Given the description of an element on the screen output the (x, y) to click on. 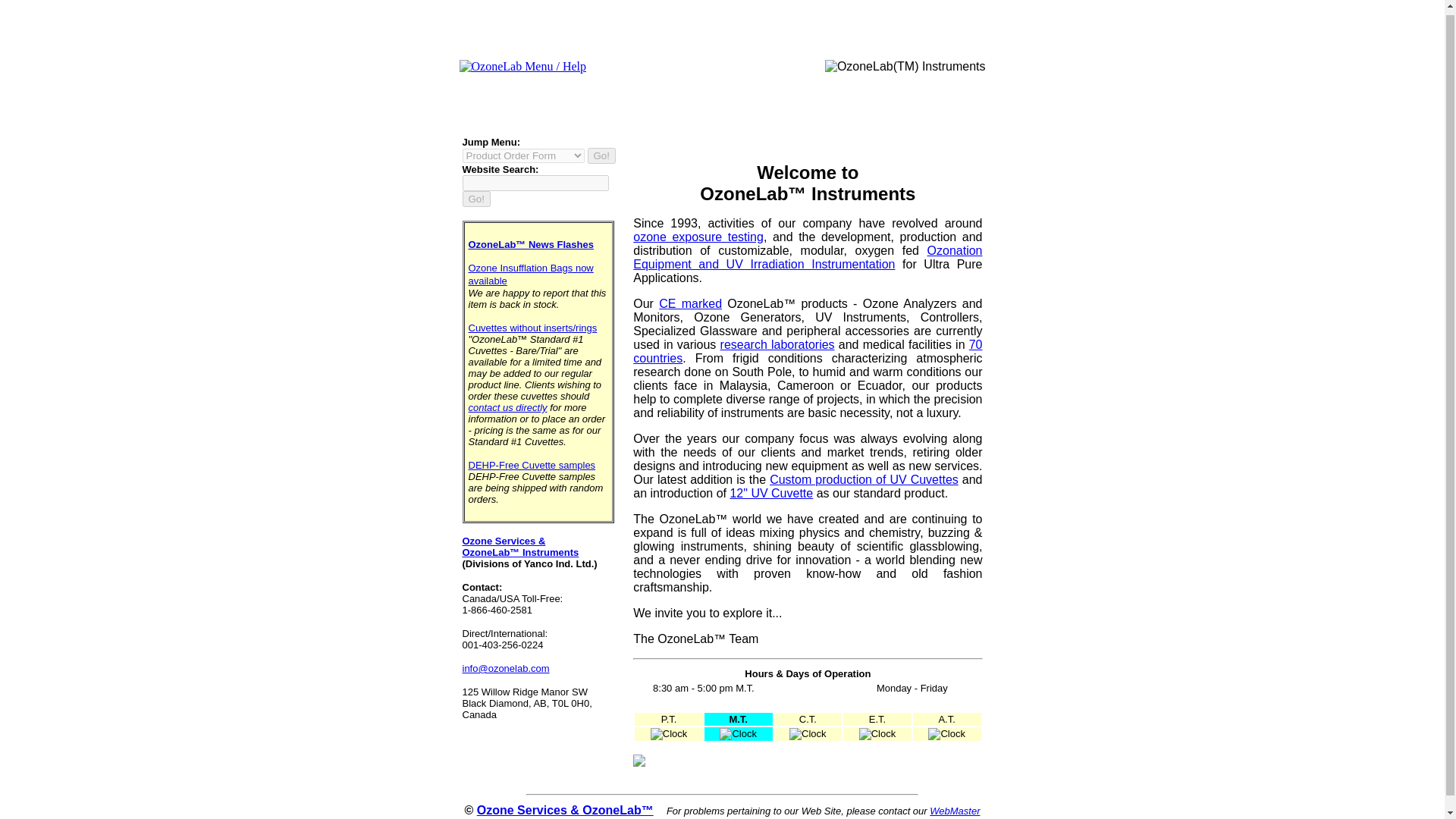
CE marked (690, 303)
Go! (476, 198)
research laboratories (777, 344)
Go! (600, 155)
WebMaster (954, 810)
Ozonation Equipment and UV Irradiation Instrumentation (807, 257)
Go! (476, 198)
Custom production of UV Cuvettes (864, 479)
DEHP-Free Cuvette samples (531, 464)
ozone exposure testing (697, 236)
12" UV Cuvette (770, 492)
Ozone Insufflation Bags now available (531, 274)
contact us directly (507, 407)
70 countries (807, 351)
